Given the description of an element on the screen output the (x, y) to click on. 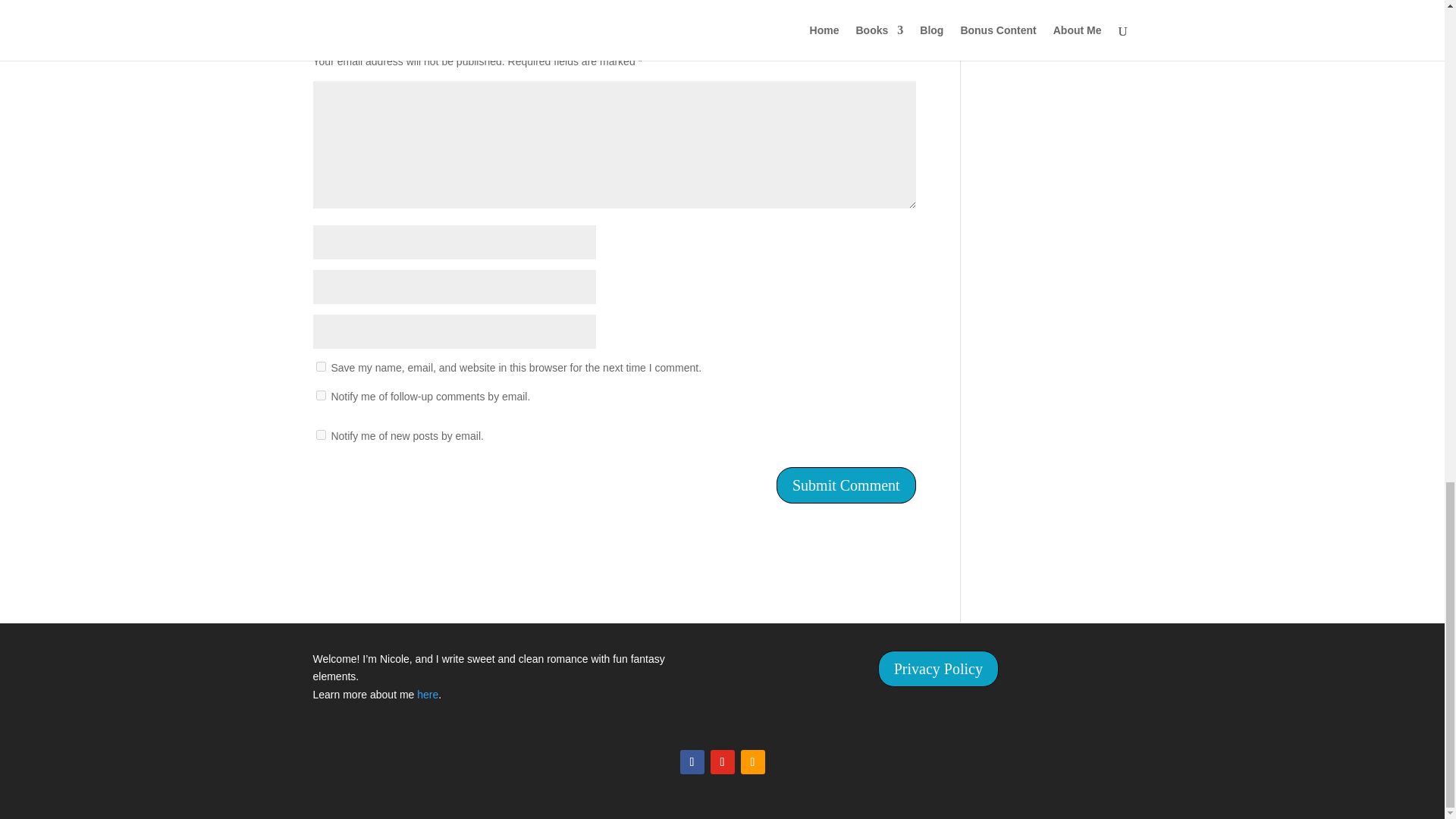
Privacy Policy (937, 668)
subscribe (319, 434)
yes (319, 366)
Submit Comment (845, 484)
here (427, 694)
Submit Comment (845, 484)
Follow on Facebook (691, 761)
Follow on Instagram (721, 761)
subscribe (319, 395)
Follow on Amazon (751, 761)
